Given the description of an element on the screen output the (x, y) to click on. 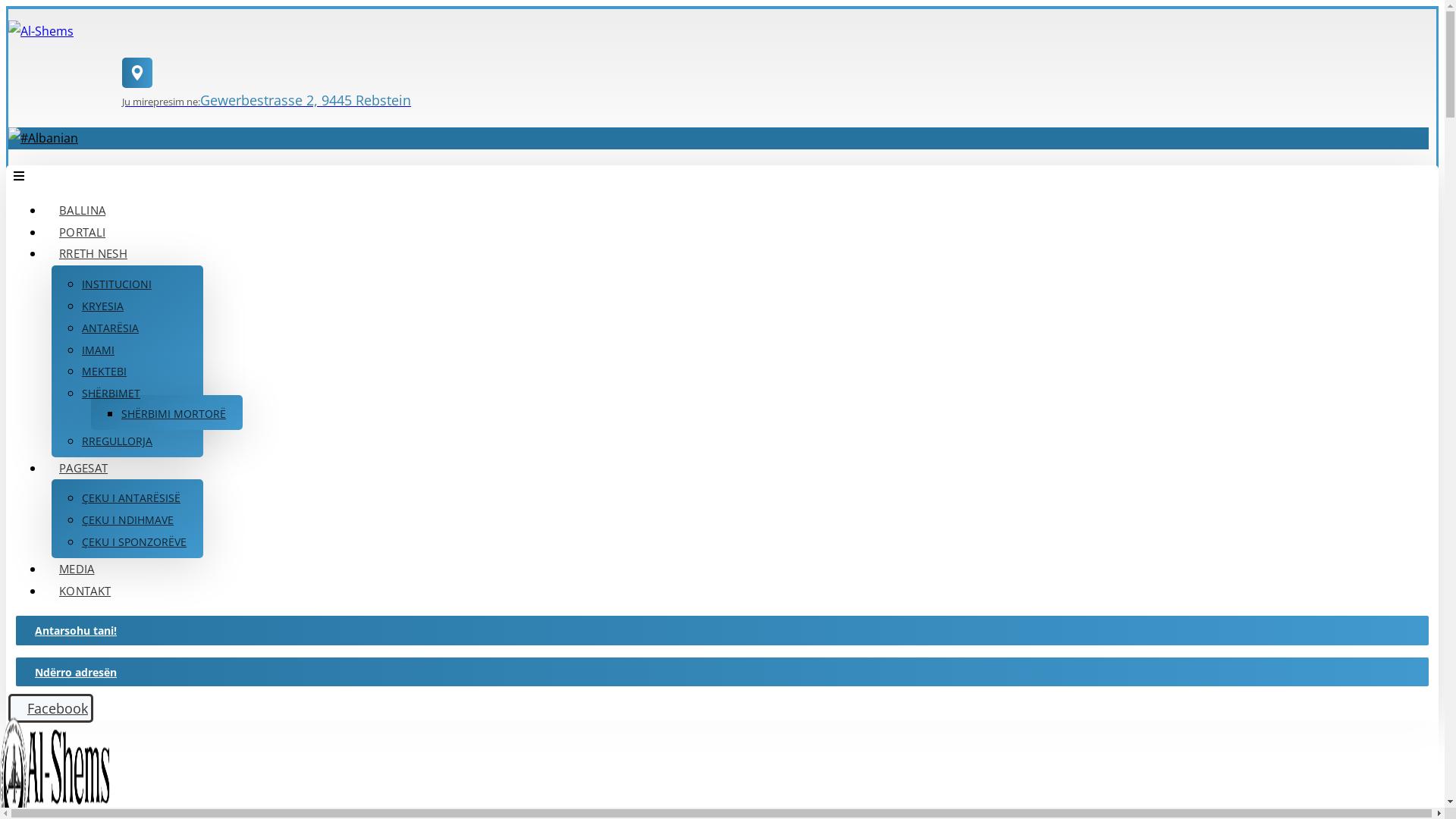
PORTALI Element type: text (81, 231)
IMAMI Element type: text (97, 349)
Antarsohu tani! Element type: text (721, 629)
Albanian Element type: text (43, 137)
RREGULLORJA Element type: text (116, 440)
Ju mirepresim ne:Gewerbestrasse 2, 9445 Rebstein Element type: text (779, 88)
BALLINA Element type: text (81, 209)
PAGESAT Element type: text (82, 467)
KONTAKT Element type: text (84, 590)
MEKTEBI Element type: text (103, 371)
INSTITUCIONI Element type: text (116, 283)
RRETH NESH Element type: text (92, 253)
Facebook Element type: text (50, 707)
MEDIA Element type: text (76, 568)
KRYESIA Element type: text (102, 305)
Rebstein Moschee Element type: hover (40, 30)
